Given the description of an element on the screen output the (x, y) to click on. 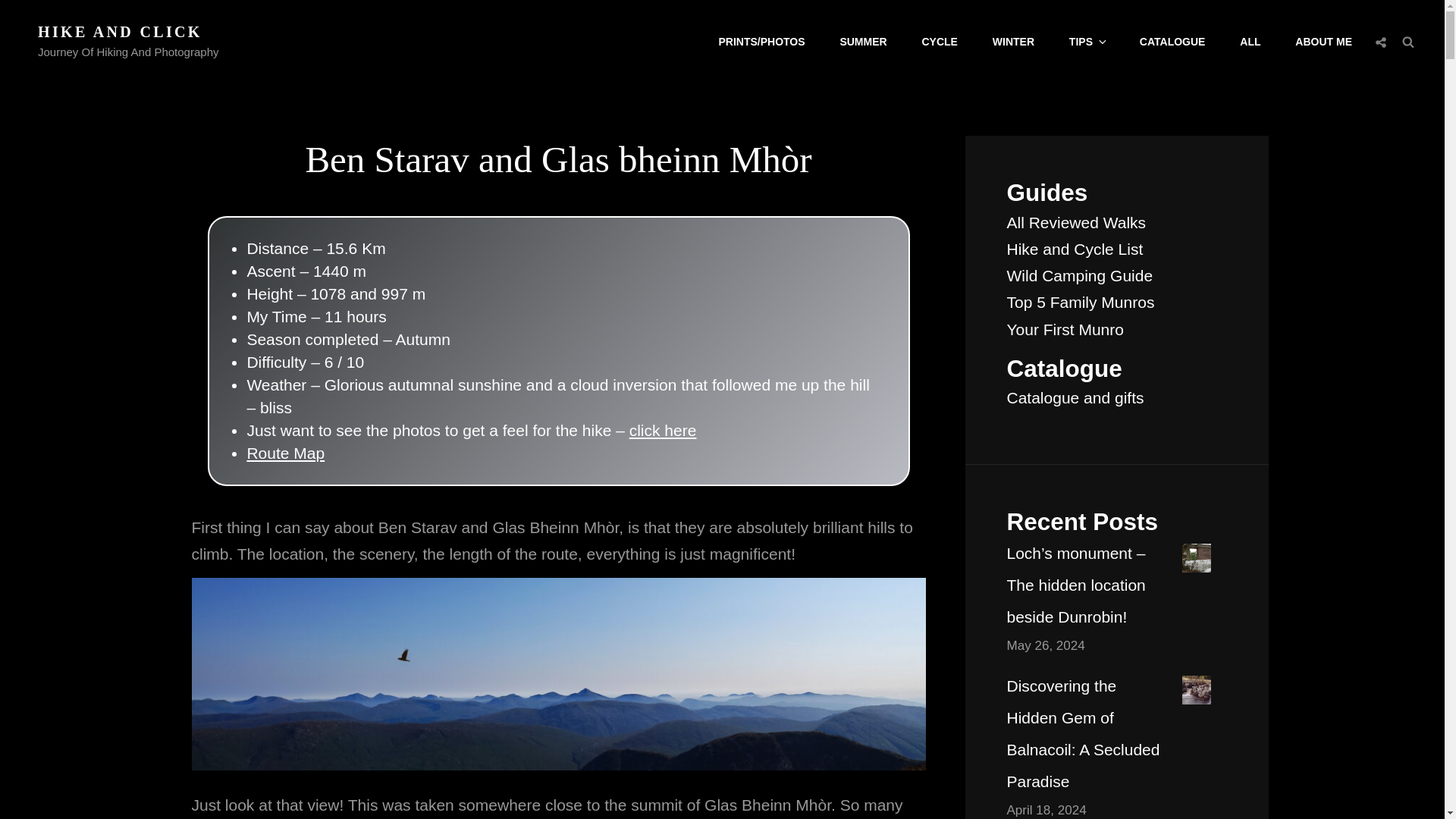
Route Map (285, 452)
Social Share (1380, 42)
CATALOGUE (1172, 41)
ALL (1249, 41)
Top 5 Family Munros (1080, 302)
click here (662, 429)
WINTER (1012, 41)
Wild Camping Guide (1080, 275)
All Reviewed Walks (1077, 221)
CYCLE (939, 41)
